Given the description of an element on the screen output the (x, y) to click on. 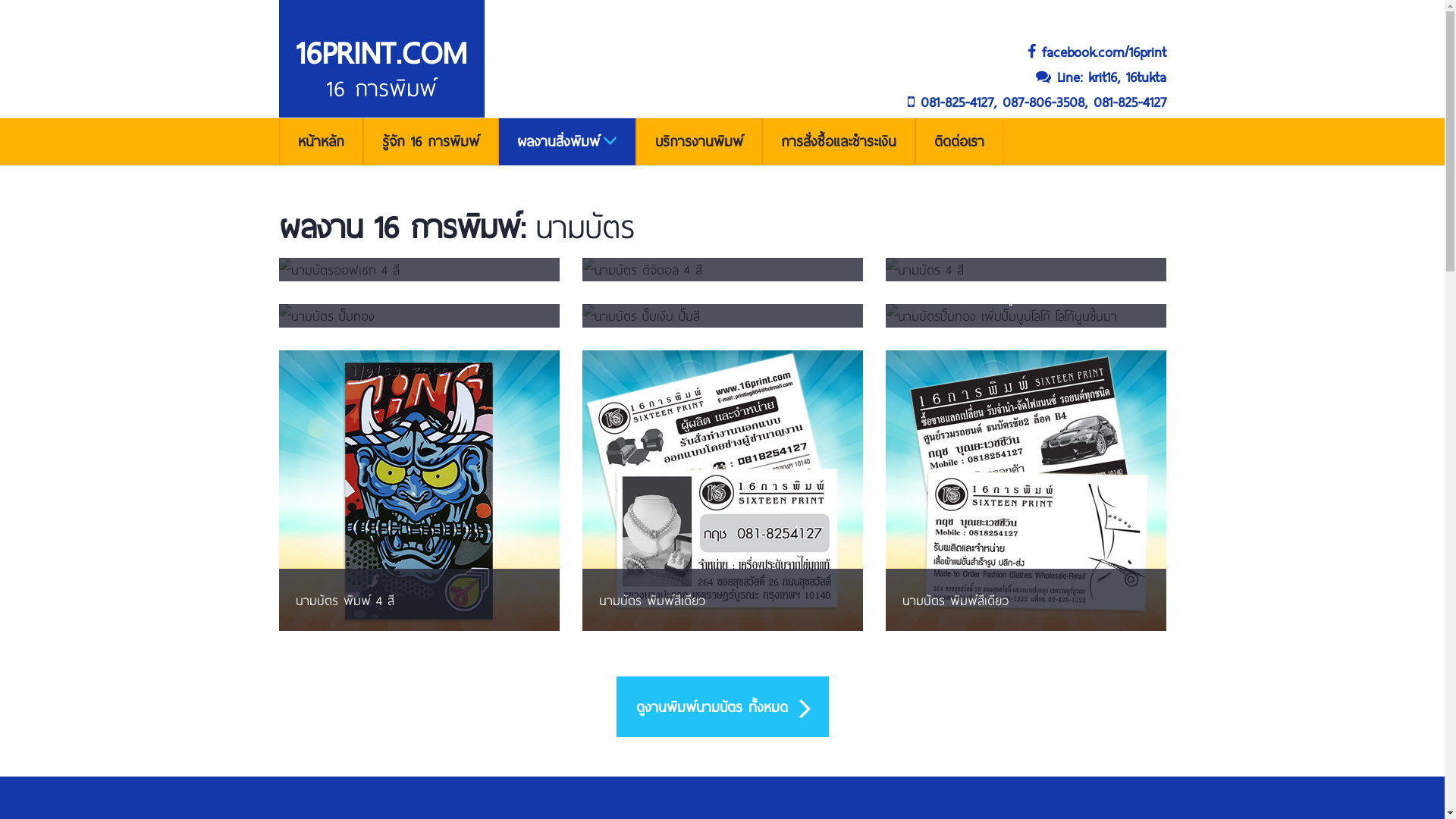
facebook.com/16print Element type: text (722, 51)
081-825-4127, 087-806-3508, 081-825-4127 Element type: text (722, 101)
Line: krit16, 16tukta Element type: text (722, 76)
